Given the description of an element on the screen output the (x, y) to click on. 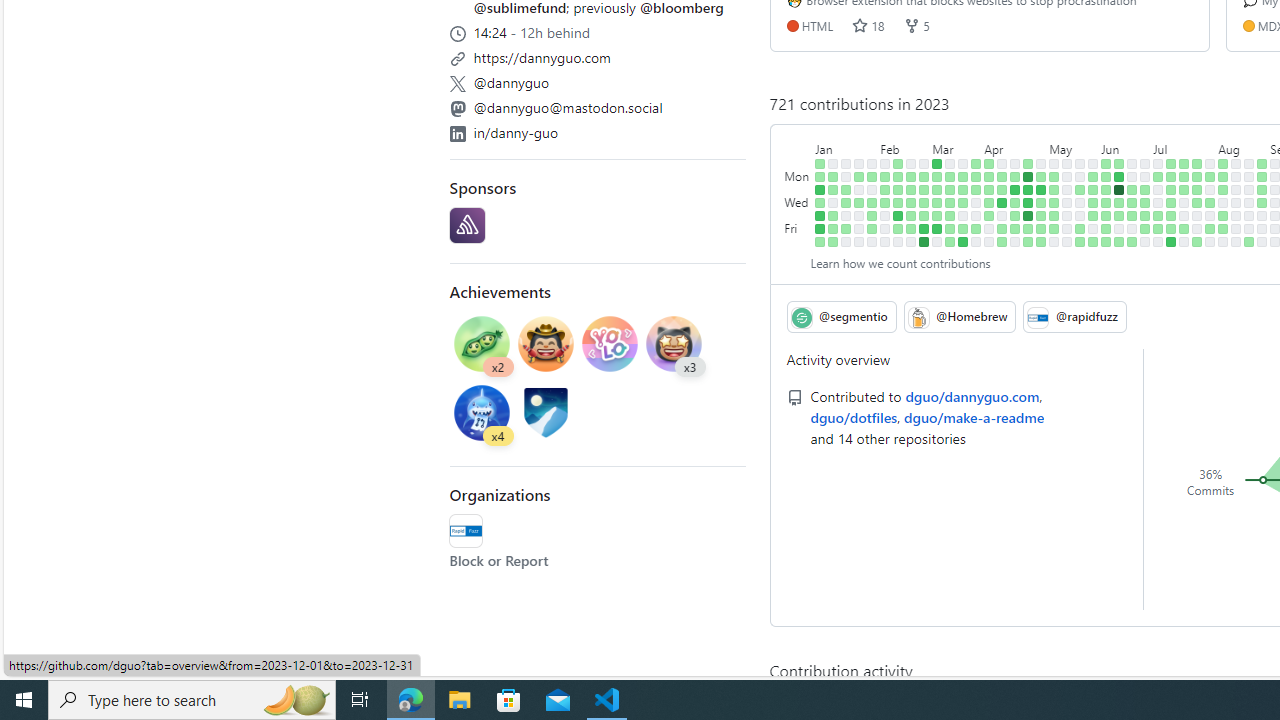
5 contributions on June 6th. (1106, 189)
1 contribution on January 20th. (846, 228)
No contributions on July 22nd. (1184, 241)
1 contribution on July 9th. (1171, 163)
1 contribution on August 4th. (1210, 228)
6 contributions on April 14th. (1002, 228)
Wednesday (797, 202)
6 contributions on April 28th. (1028, 228)
18 contributions on March 4th. (924, 241)
No contributions on June 2nd. (1093, 228)
1 contribution on July 29th. (1197, 241)
2 contributions on May 6th. (1041, 241)
No contributions on February 19th. (911, 163)
No contributions on February 26th. (924, 163)
No contributions on August 23rd. (1249, 202)
